Given the description of an element on the screen output the (x, y) to click on. 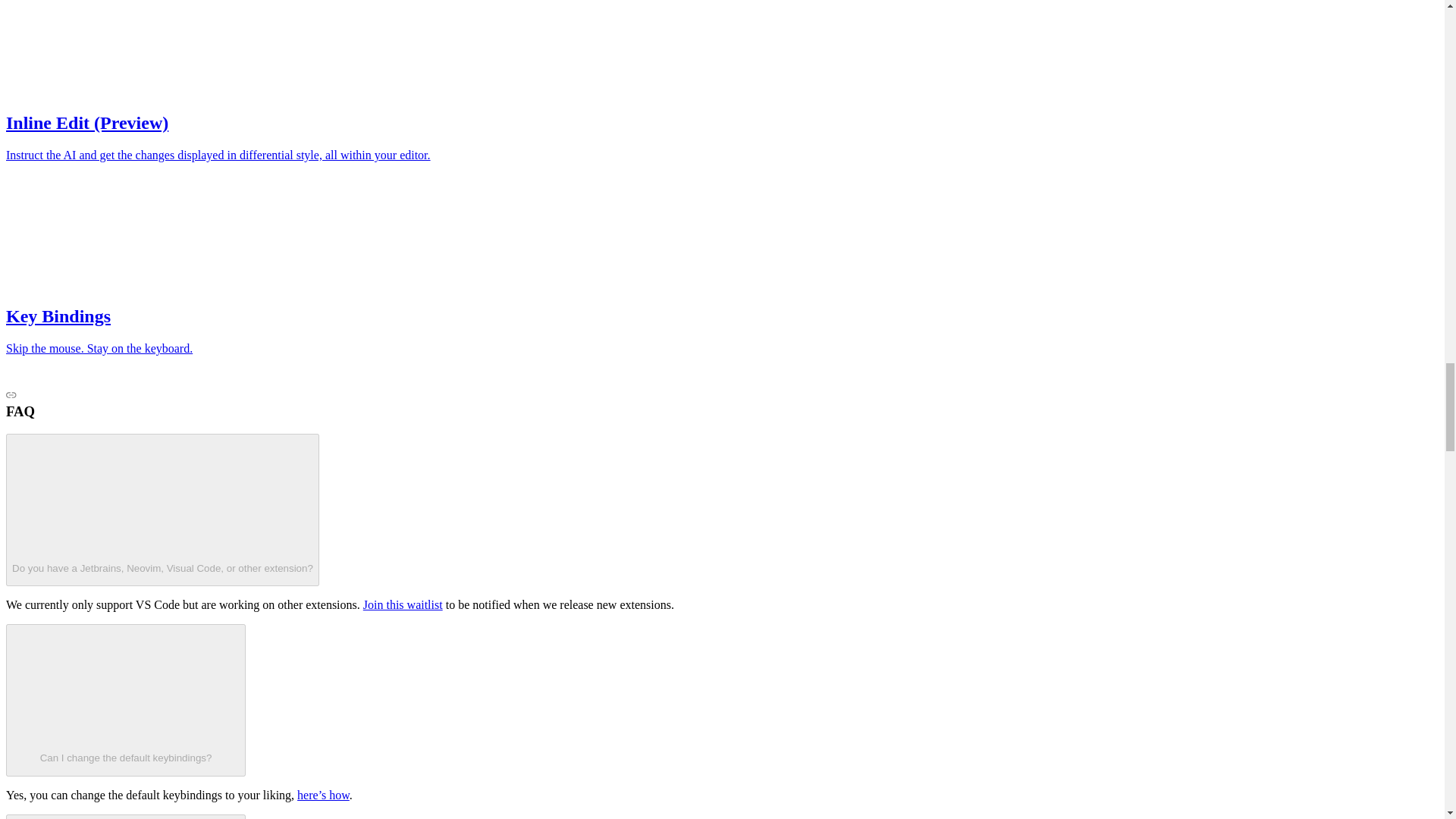
Can I change the default keybindings? (125, 700)
How do I change the model? (125, 816)
Join this waitlist (402, 604)
